Given the description of an element on the screen output the (x, y) to click on. 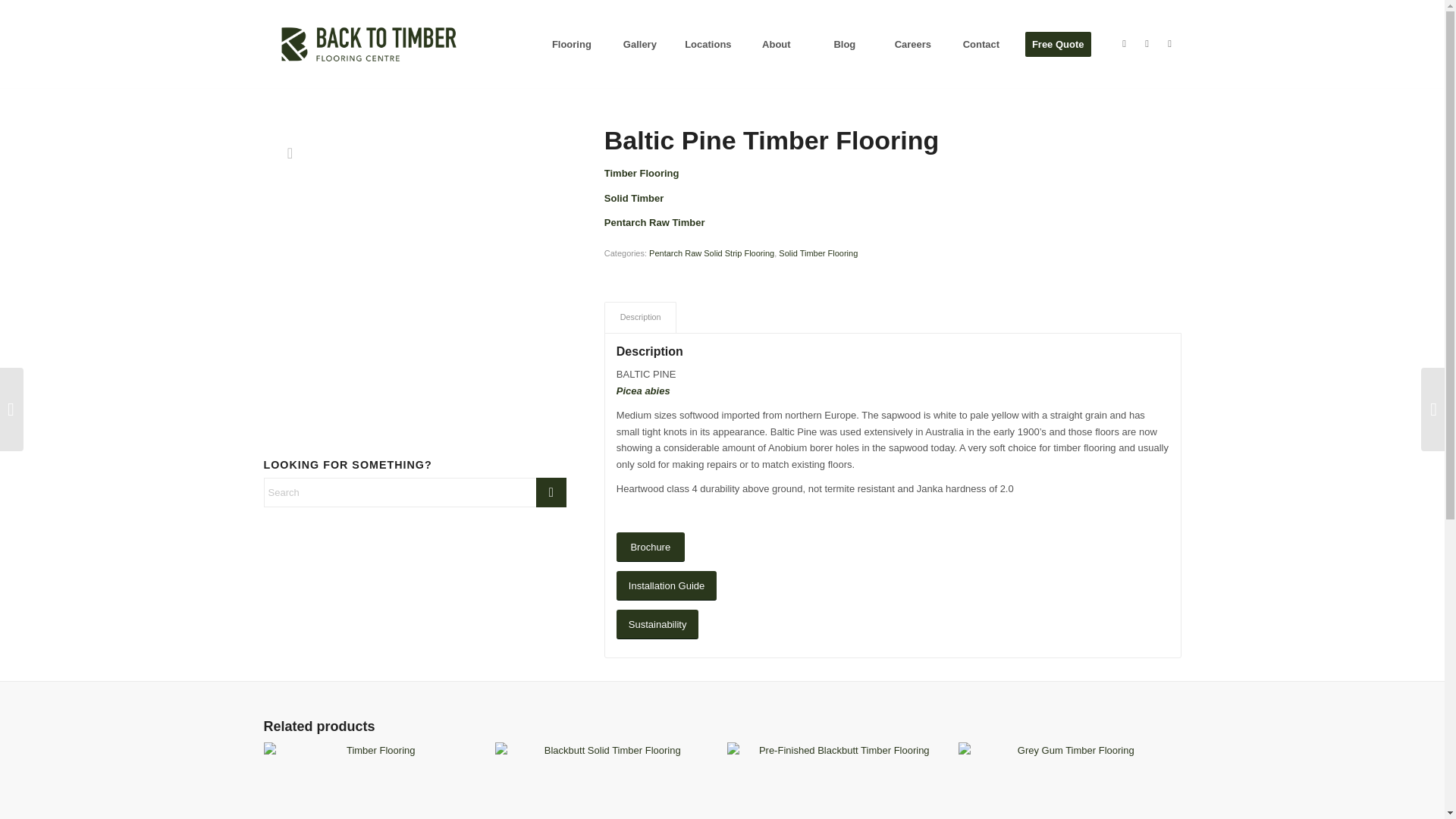
Facebook (1124, 43)
WhatsApp (1169, 43)
Instagram (1146, 43)
Click to start search (550, 491)
